Given the description of an element on the screen output the (x, y) to click on. 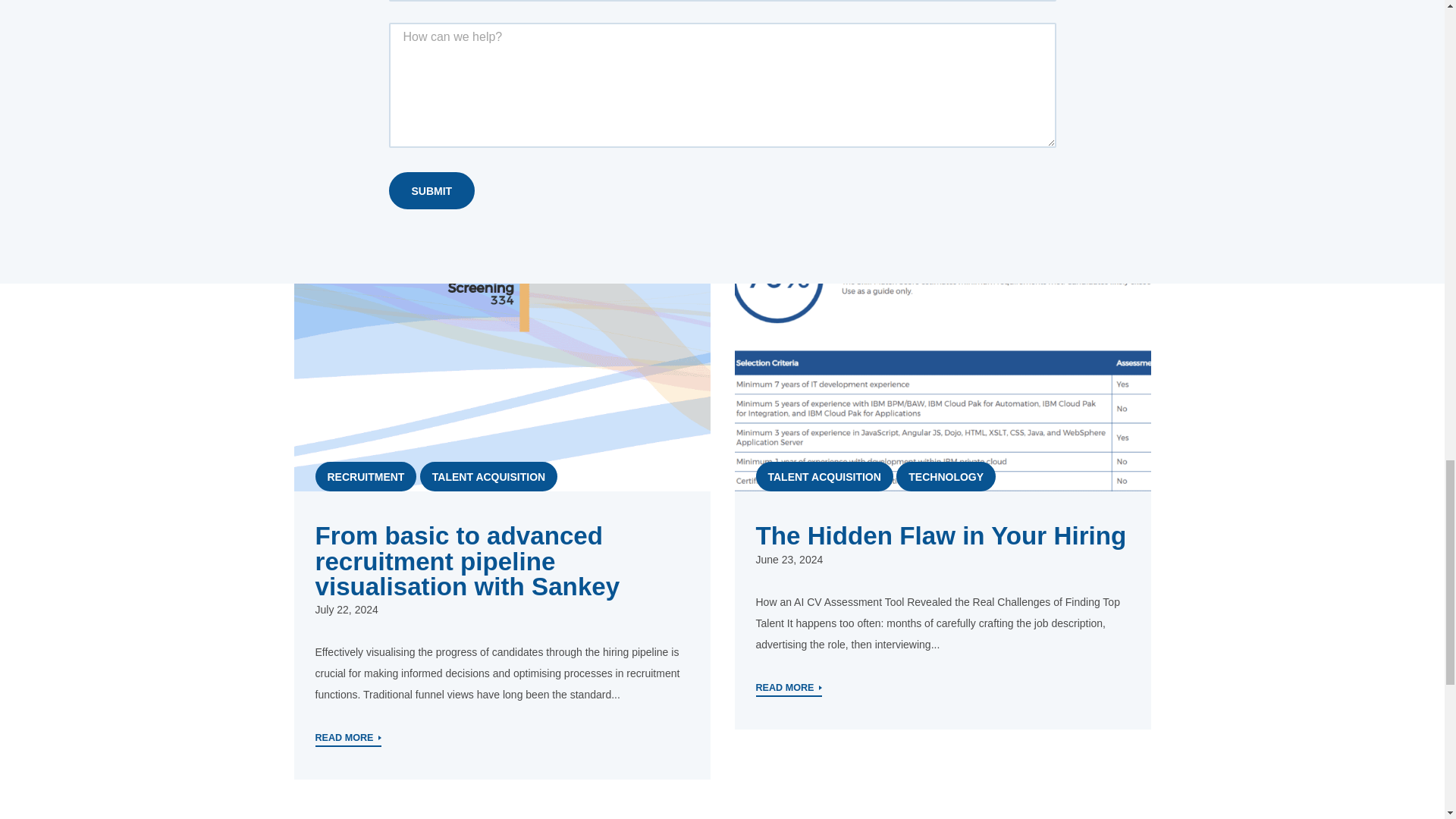
TALENT ACQUISITION (488, 476)
The Hidden Flaw in Your Hiring (940, 535)
RECRUITMENT (365, 476)
Submit (431, 190)
TECHNOLOGY (945, 476)
TALENT ACQUISITION (823, 476)
Submit (431, 190)
READ MORE (348, 738)
READ MORE (788, 688)
